Given the description of an element on the screen output the (x, y) to click on. 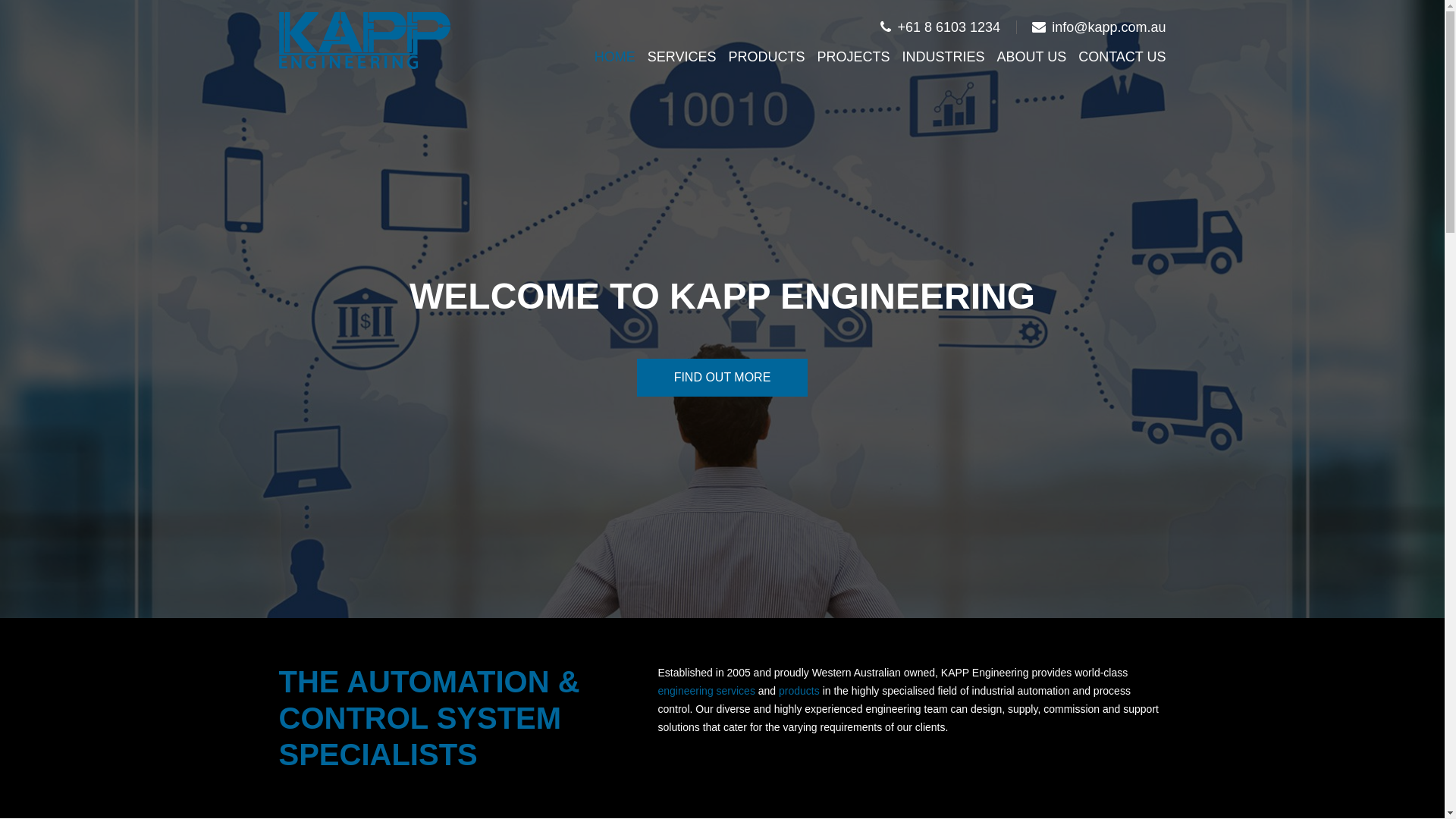
FIND OUT MORE Element type: text (722, 377)
HOME Element type: text (614, 56)
SERVICES Element type: text (681, 56)
ABOUT US Element type: text (1031, 56)
INDUSTRIES Element type: text (942, 56)
PROJECTS Element type: text (852, 56)
engineering services Element type: text (706, 690)
CONTACT US Element type: text (1121, 56)
PRODUCTS Element type: text (766, 56)
+61 8 6103 1234 Element type: text (940, 26)
products Element type: text (798, 690)
info@kapp.com.au Element type: text (1098, 26)
